Given the description of an element on the screen output the (x, y) to click on. 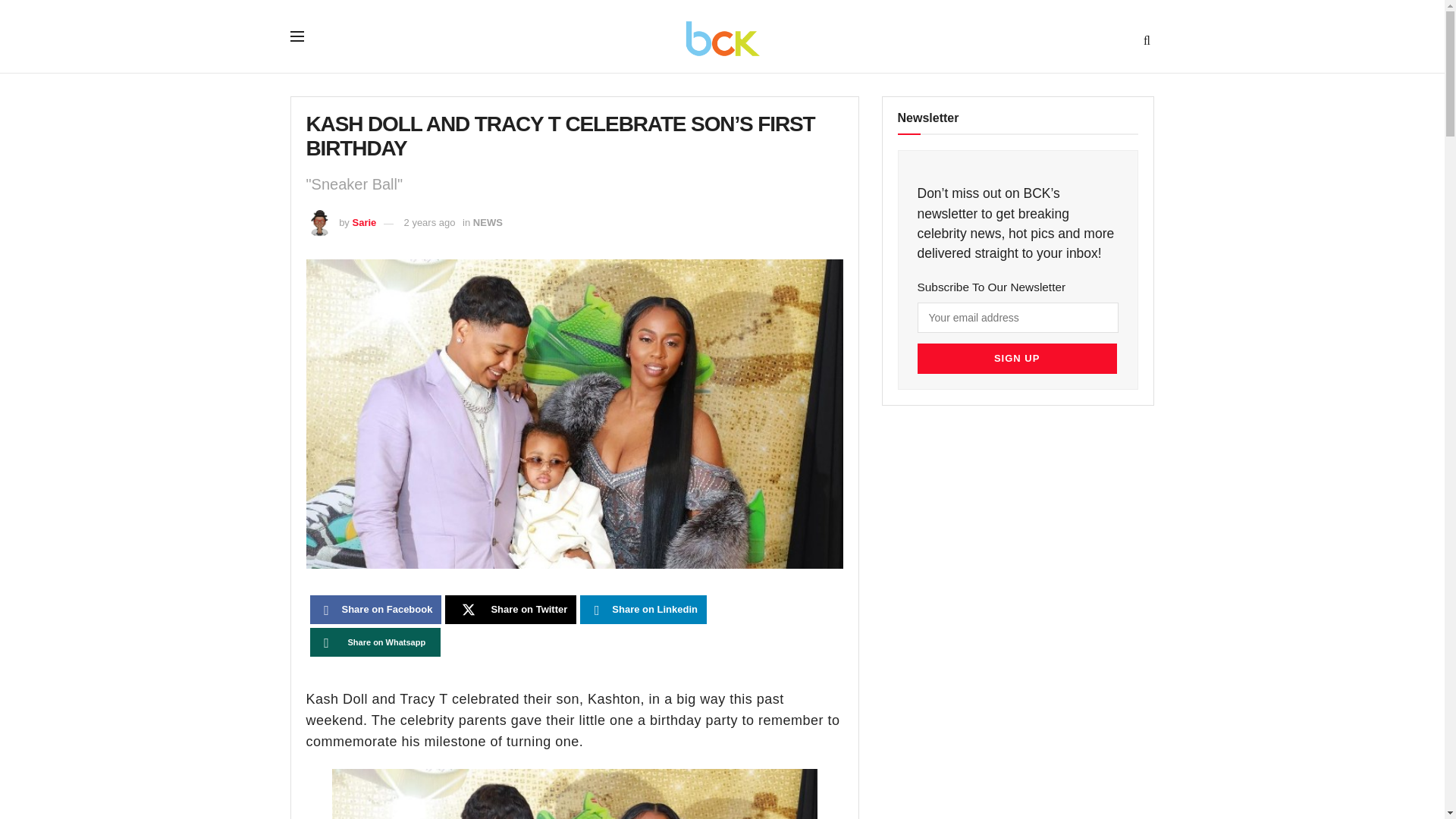
Share on Facebook (374, 609)
Sarie (363, 222)
Share on Linkedin (642, 609)
Share on Whatsapp (374, 642)
Share on Twitter (510, 609)
NEWS (487, 222)
Sign up (1016, 358)
2 years ago (429, 222)
